Given the description of an element on the screen output the (x, y) to click on. 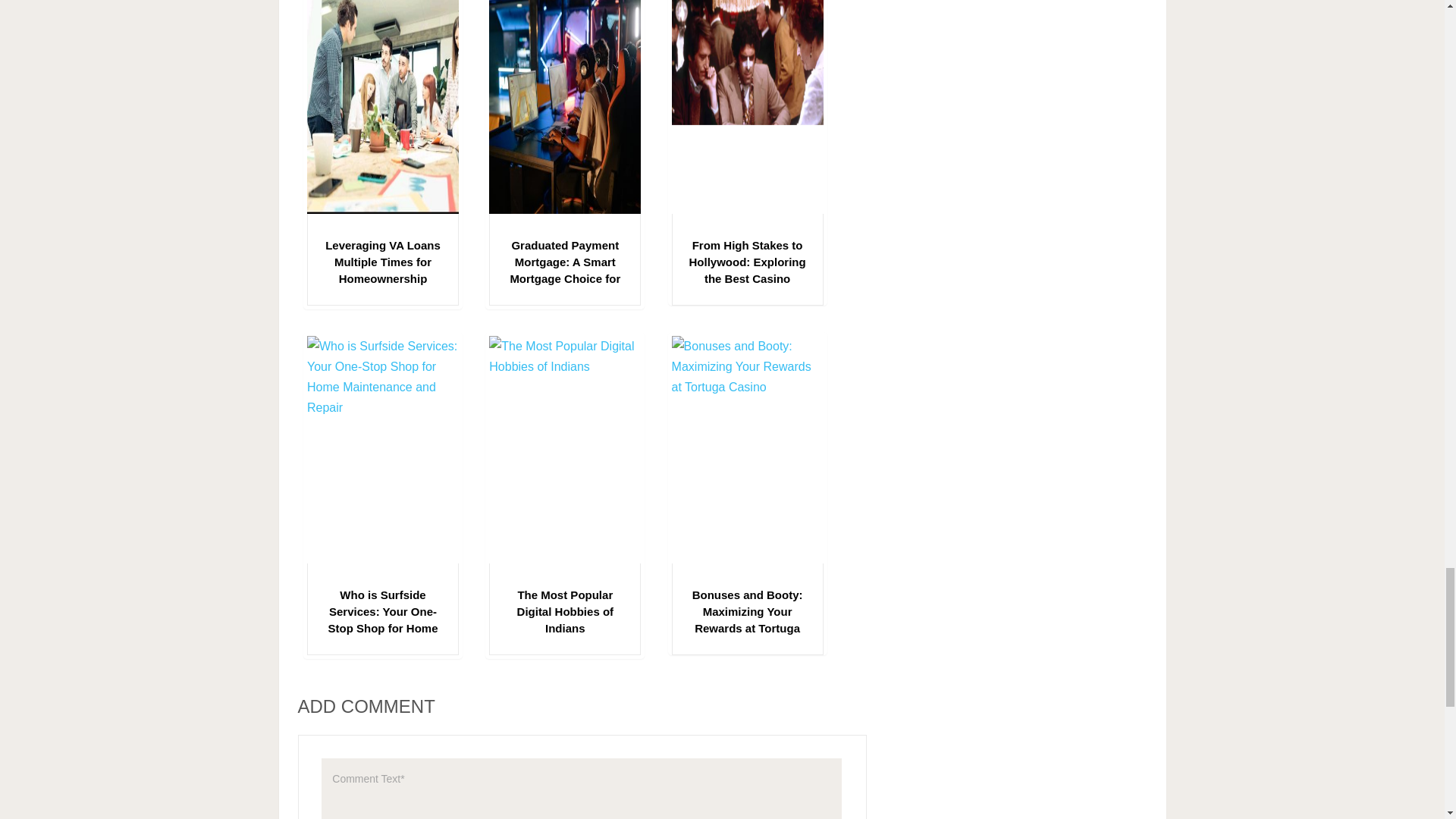
Leveraging VA Loans Multiple Times for Homeownership Success (382, 270)
Leveraging VA Loans Multiple Times for Homeownership Success (382, 270)
